Given the description of an element on the screen output the (x, y) to click on. 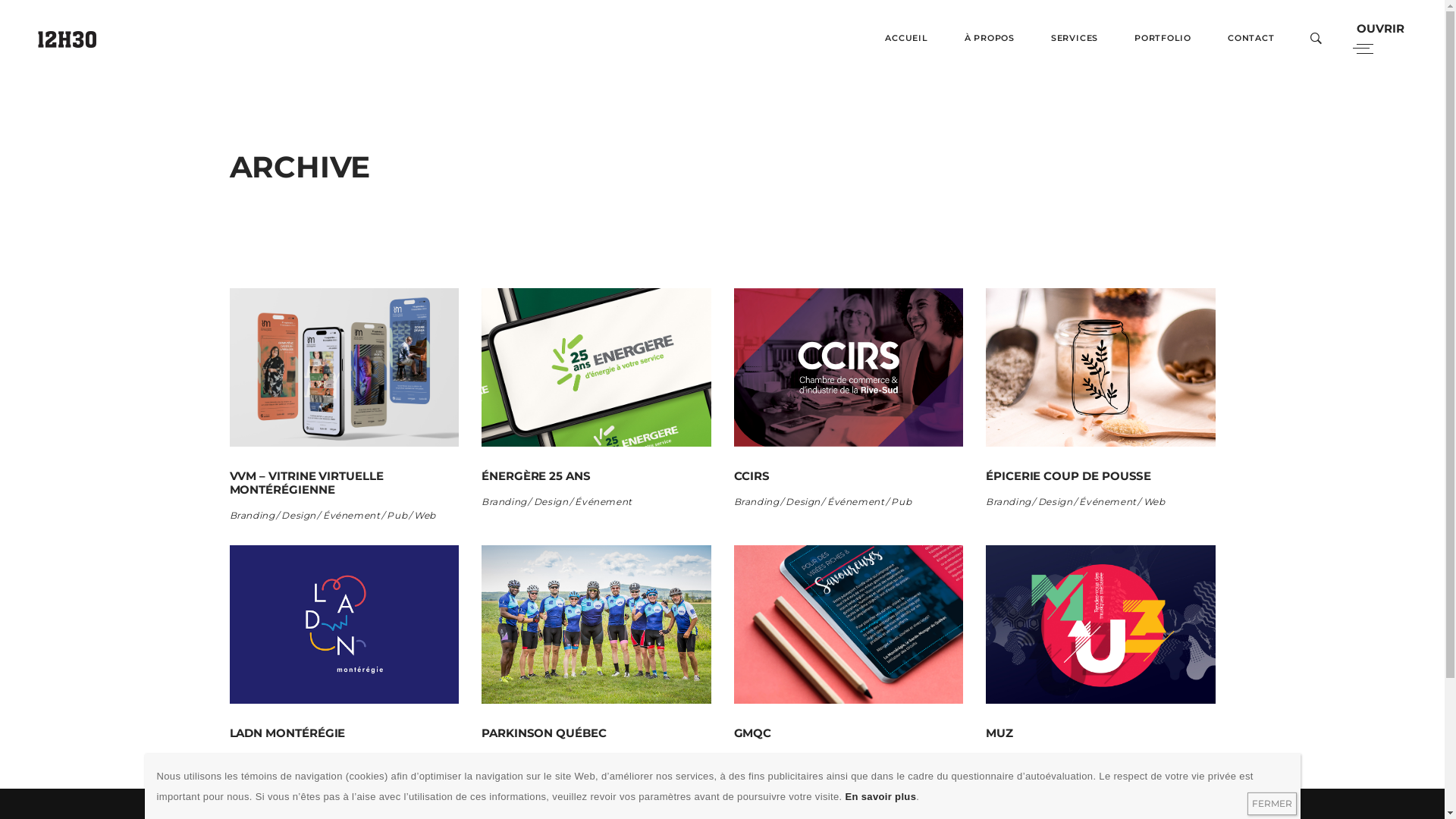
Web Element type: text (583, 758)
PORTFOLIO Element type: text (1162, 37)
CONTACT Element type: text (1250, 37)
Design Element type: text (752, 758)
Branding Element type: text (504, 501)
Branding Element type: text (1008, 501)
Pub Element type: text (556, 758)
Design Element type: text (299, 515)
OUVRIR Element type: text (1383, 37)
Web Element type: text (425, 515)
Pub Element type: text (346, 758)
Pub Element type: text (850, 758)
En savoir plus Element type: text (880, 796)
Design Element type: text (803, 501)
Design Element type: text (1056, 501)
Pub Element type: text (901, 501)
Branding Element type: text (252, 515)
SERVICES Element type: text (1074, 37)
FERMER Element type: text (1270, 803)
Branding Element type: text (757, 501)
Design Element type: text (247, 758)
Web Element type: text (372, 758)
Pub Element type: text (1101, 758)
Web Element type: text (1154, 501)
Web Element type: text (877, 758)
ACCUEIL Element type: text (905, 37)
Design Element type: text (551, 501)
Pub Element type: text (397, 515)
Design Element type: text (1003, 758)
